Given the description of an element on the screen output the (x, y) to click on. 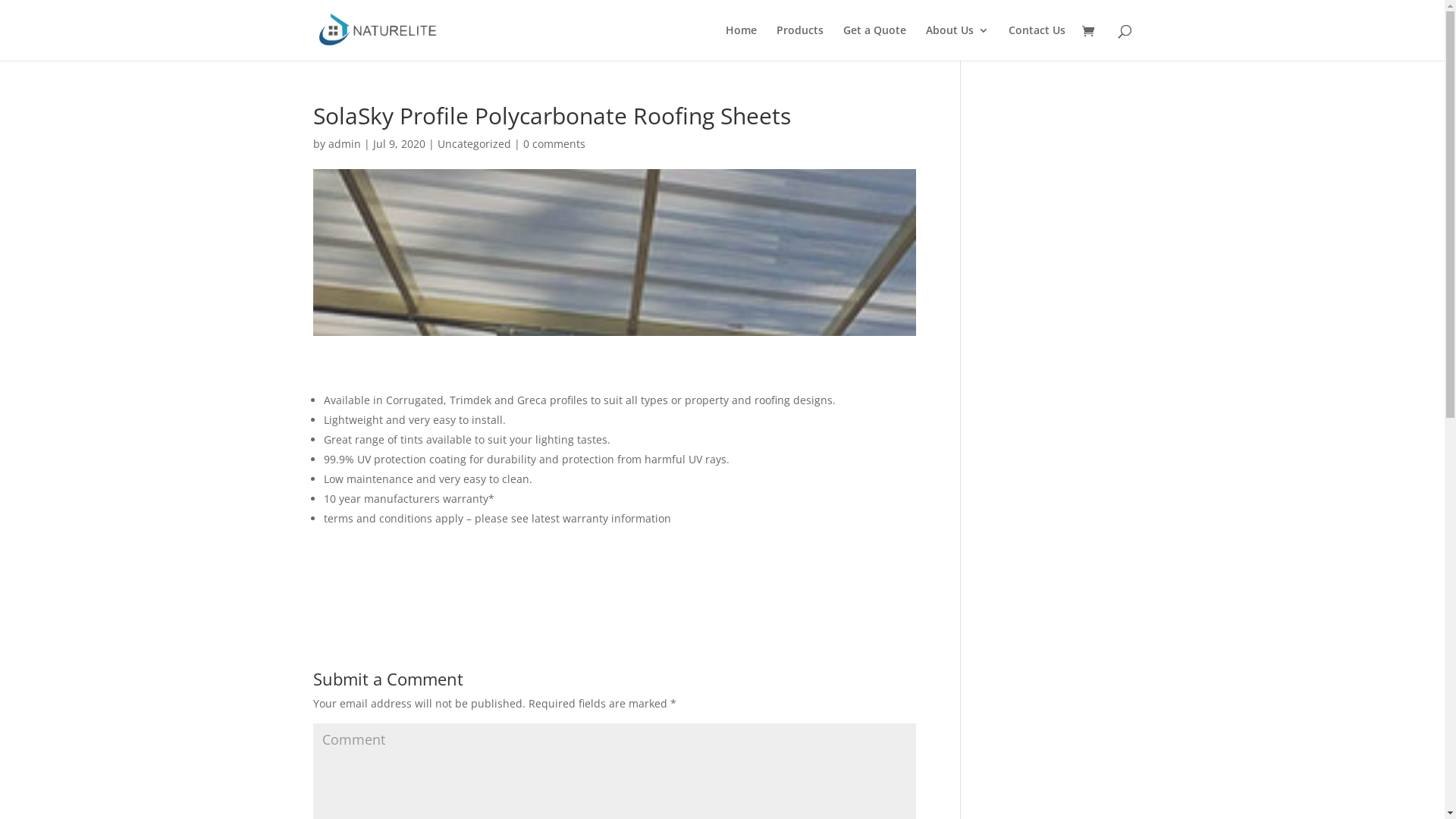
Contact Us Element type: text (1036, 42)
About Us Element type: text (956, 42)
Products Element type: text (799, 42)
Uncategorized Element type: text (473, 143)
admin Element type: text (343, 143)
Home Element type: text (740, 42)
Get a Quote Element type: text (874, 42)
0 comments Element type: text (554, 143)
